Given the description of an element on the screen output the (x, y) to click on. 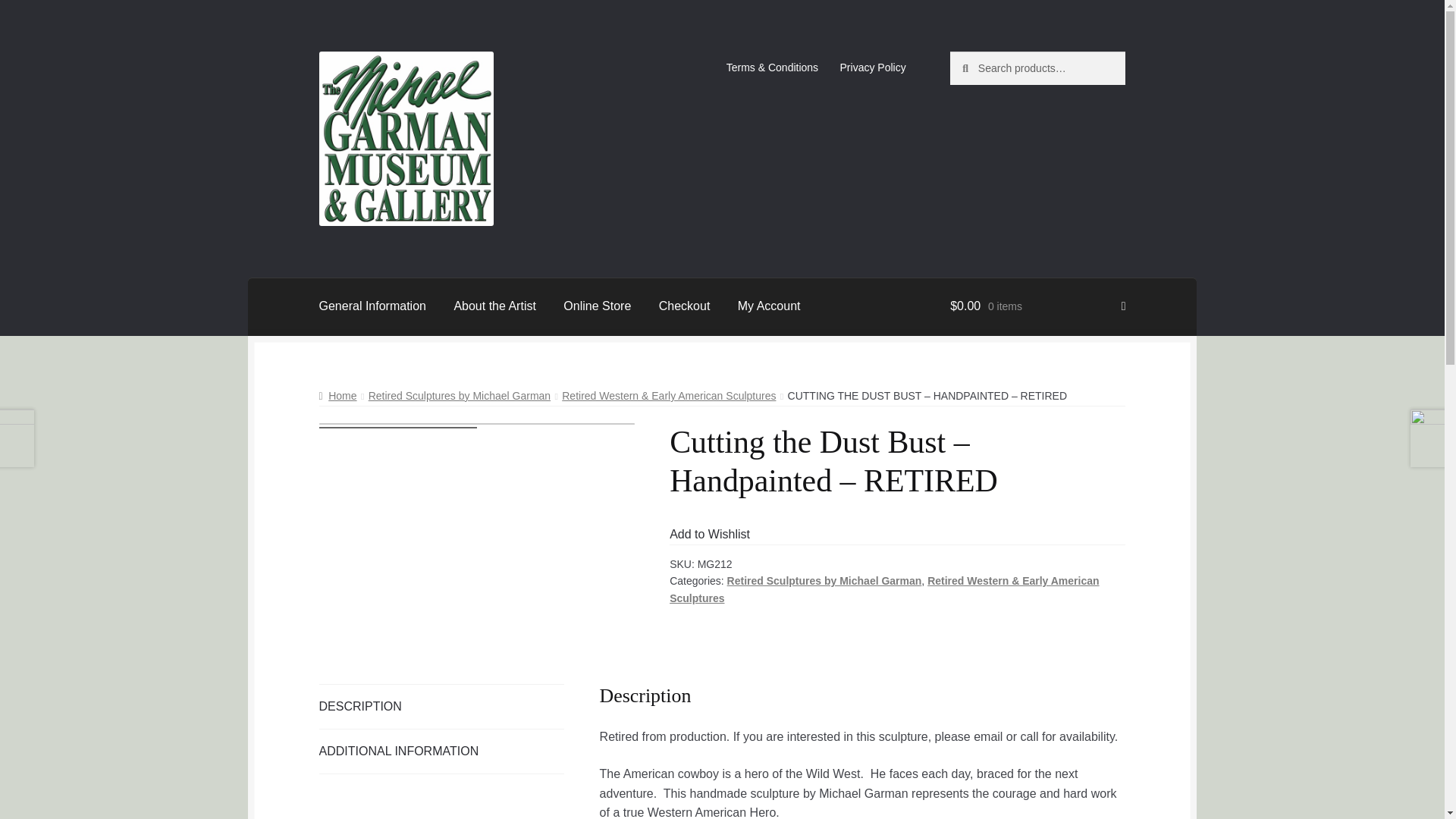
Online Store (597, 306)
Retired Sculptures by Michael Garman (459, 395)
Home (337, 395)
General Information (372, 306)
ADDITIONAL INFORMATION (441, 751)
Checkout (684, 306)
About the Artist (494, 306)
Privacy Policy (872, 67)
